Given the description of an element on the screen output the (x, y) to click on. 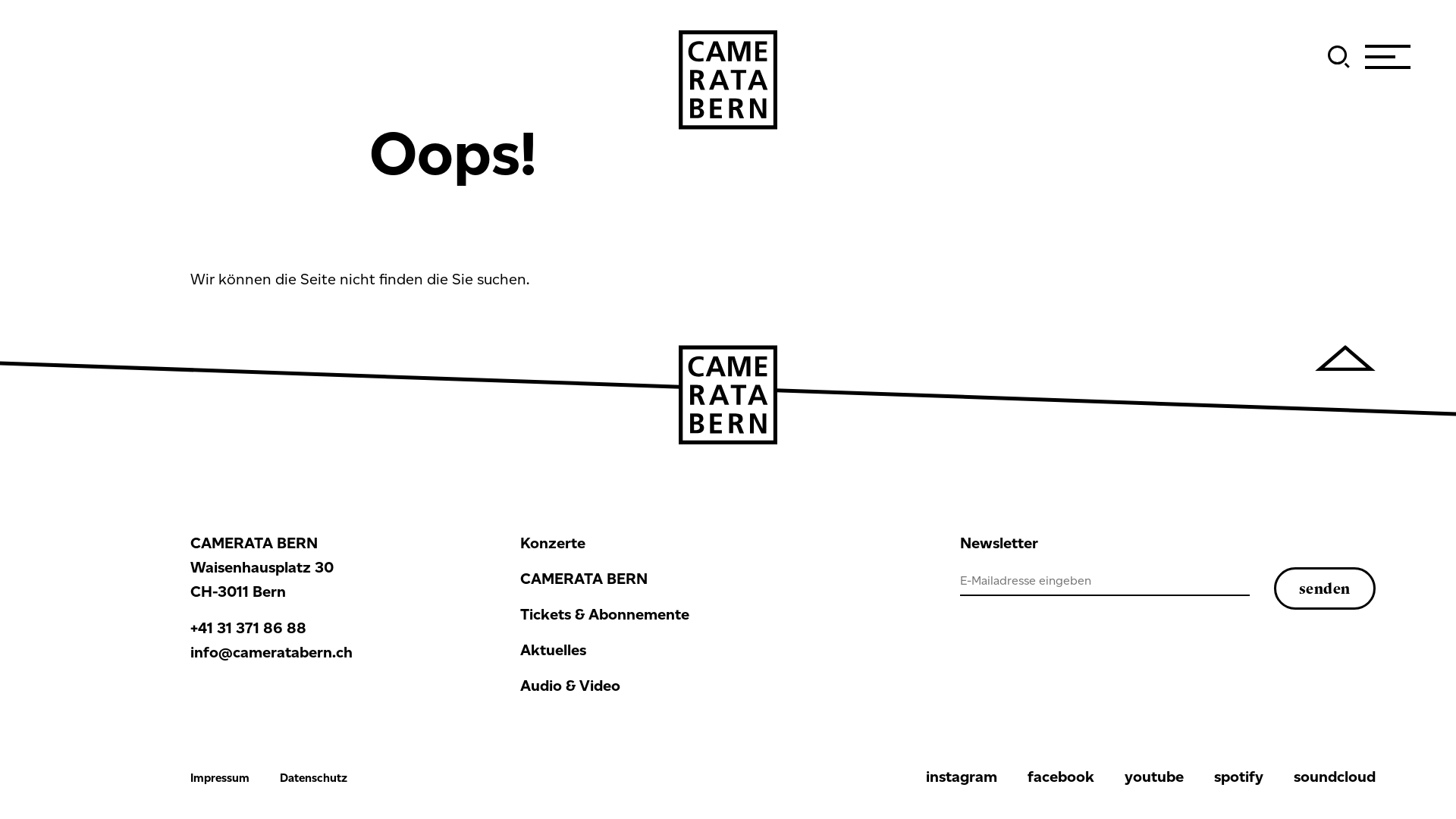
facebook Element type: text (1060, 776)
Audio & Video Element type: text (672, 685)
Datenschutz Element type: text (313, 777)
soundcloud Element type: text (1334, 776)
GEWA Element type: hover (727, 79)
senden Element type: text (1324, 588)
+41 31 371 86 88 Element type: text (248, 627)
Aktuelles Element type: text (672, 649)
Konzerte Element type: text (672, 542)
Tickets & Abonnemente Element type: text (672, 614)
youtube Element type: text (1153, 776)
instagram Element type: text (961, 776)
spotify Element type: text (1238, 776)
CAMERATA BERN Element type: text (672, 578)
Impressum Element type: text (219, 777)
info@cameratabern.ch Element type: text (271, 652)
GEWA Element type: hover (727, 394)
